Given the description of an element on the screen output the (x, y) to click on. 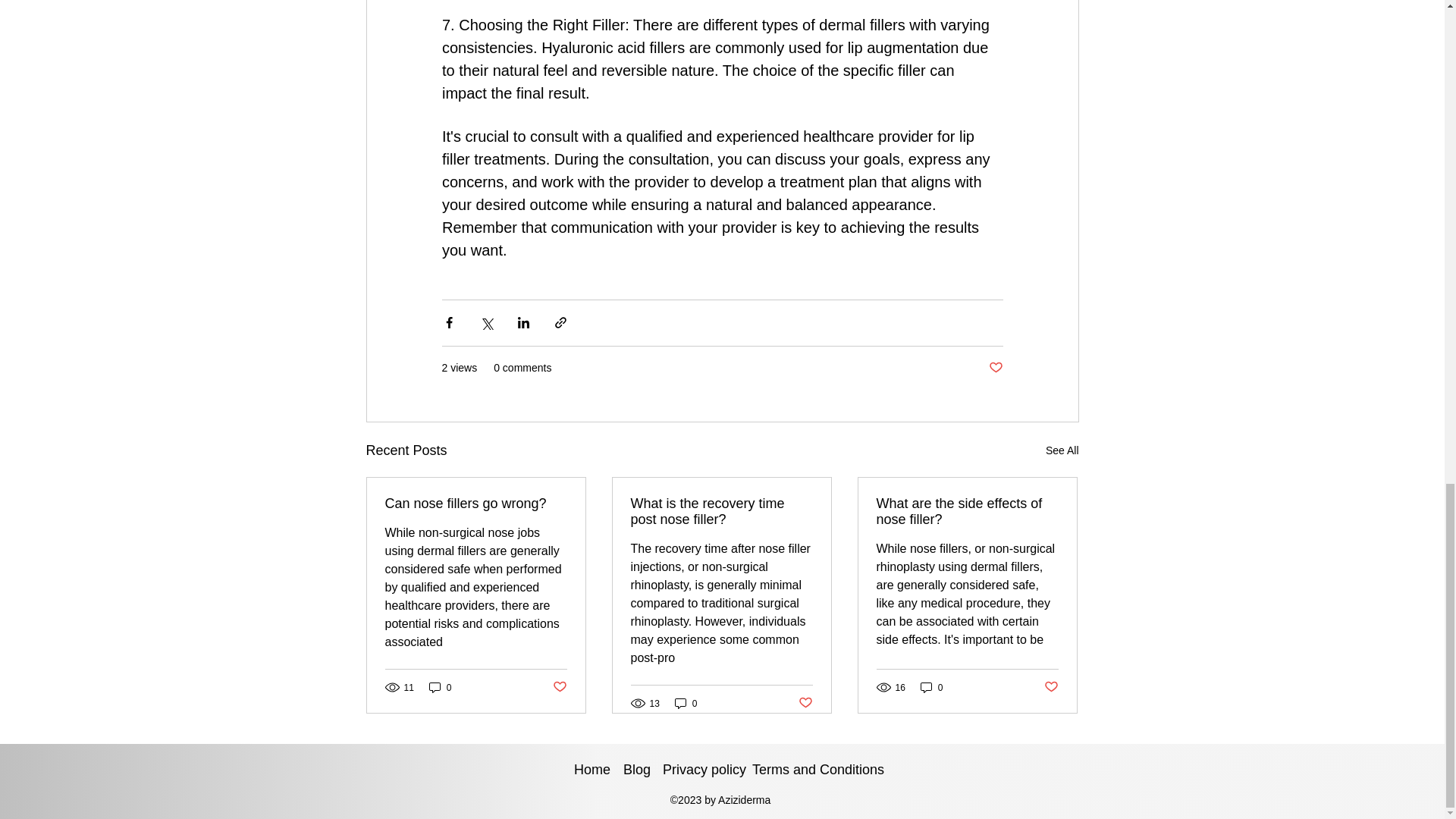
Terms and Conditions (811, 769)
0 (931, 687)
Post not marked as liked (804, 703)
What are the side effects of nose filler? (967, 511)
Post not marked as liked (995, 367)
Post not marked as liked (1050, 687)
Home (590, 769)
Can nose fillers go wrong? (476, 503)
See All (1061, 450)
Privacy policy (699, 769)
0 (685, 703)
Blog (635, 769)
Post not marked as liked (558, 687)
0 (440, 687)
What is the recovery time post nose filler? (721, 511)
